Given the description of an element on the screen output the (x, y) to click on. 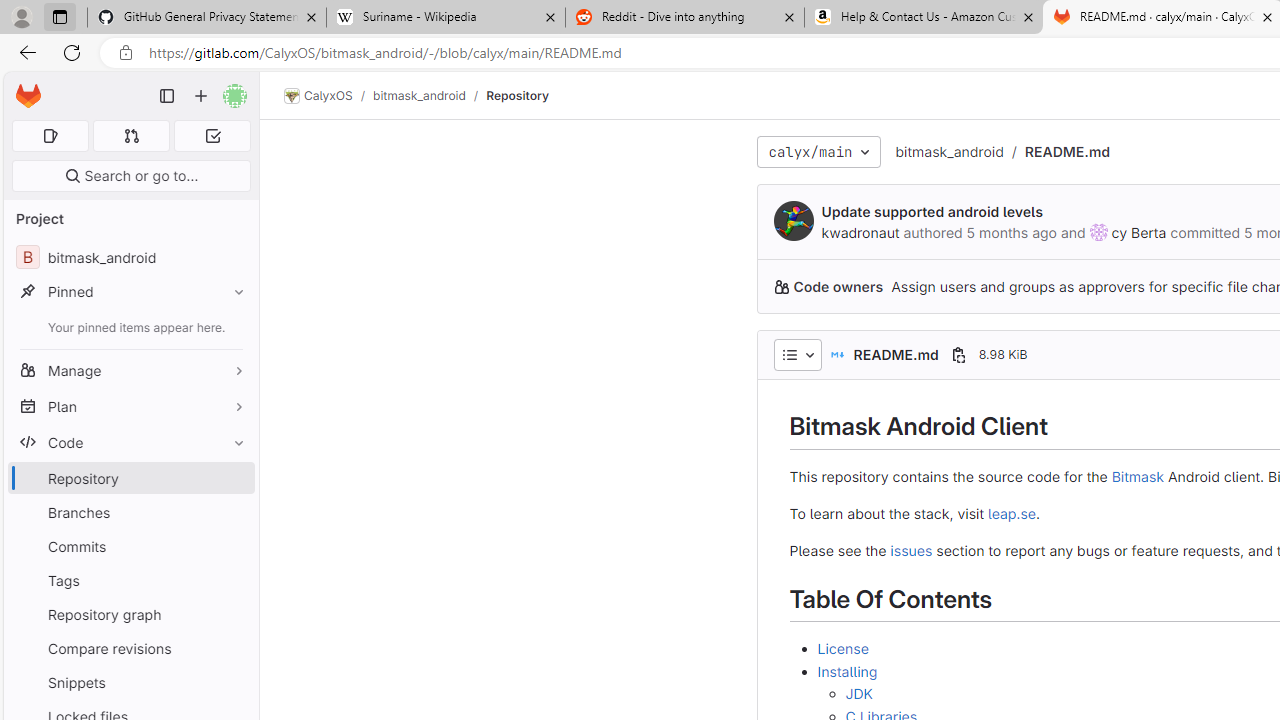
AutomationID: dropdown-toggle-btn-62 (797, 354)
Repository (518, 95)
issues (911, 549)
kwadronaut's avatar (793, 220)
Pin Snippets (234, 682)
Plan (130, 406)
calyx/main (818, 151)
bitmask_android (948, 151)
Suriname - Wikipedia (445, 17)
